Given the description of an element on the screen output the (x, y) to click on. 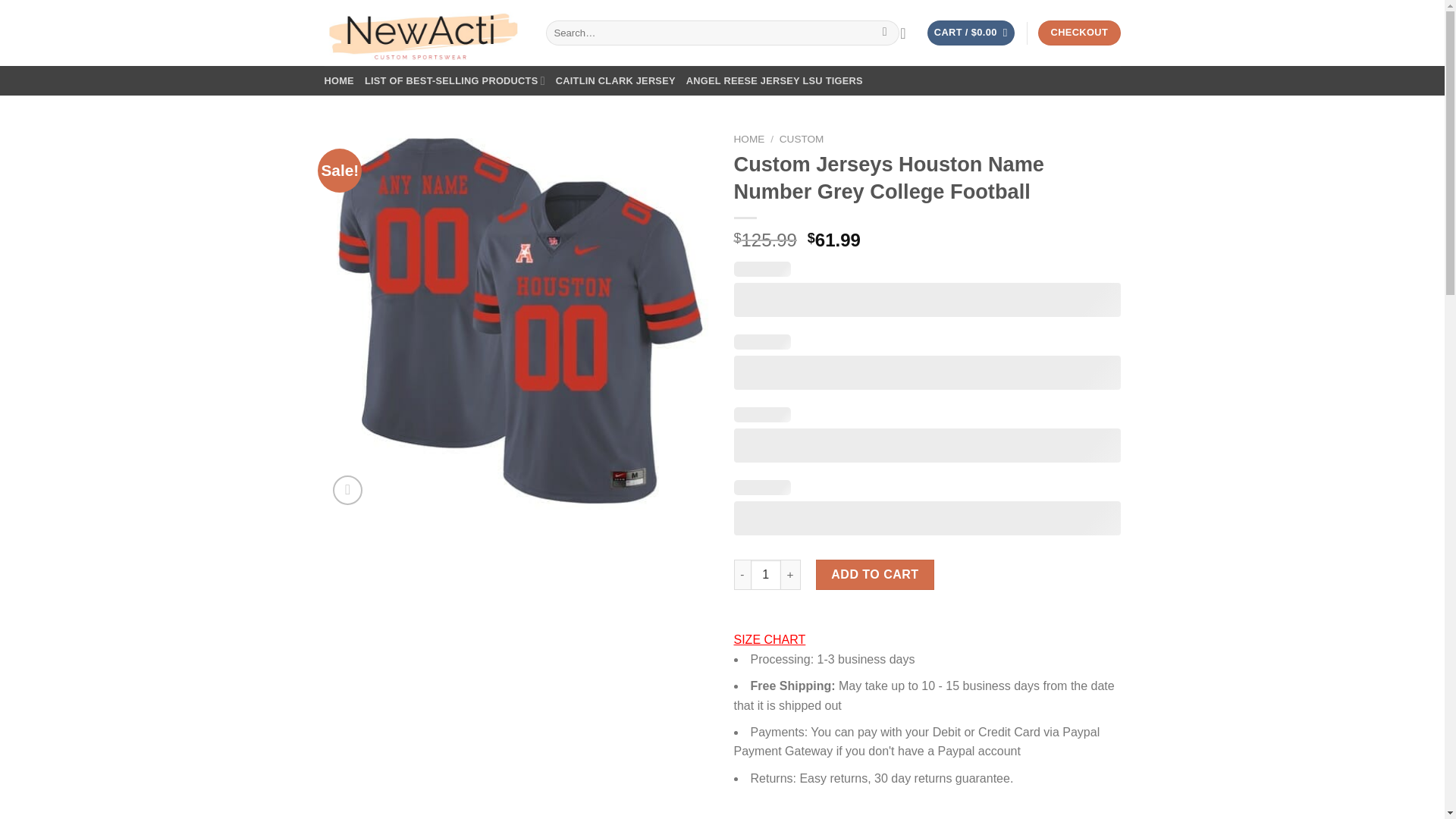
CAITLIN CLARK JERSEY (615, 80)
ANGEL REESE JERSEY LSU TIGERS (774, 80)
SIZE CHART (769, 639)
- (742, 574)
CUSTOM (801, 138)
CHECKOUT (1078, 32)
HOME (338, 80)
Qty (765, 574)
HOME (749, 138)
1 (765, 574)
Search (884, 32)
LIST OF BEST-SELLING PRODUCTS (454, 80)
Cart (970, 32)
Zoom (347, 490)
